Given the description of an element on the screen output the (x, y) to click on. 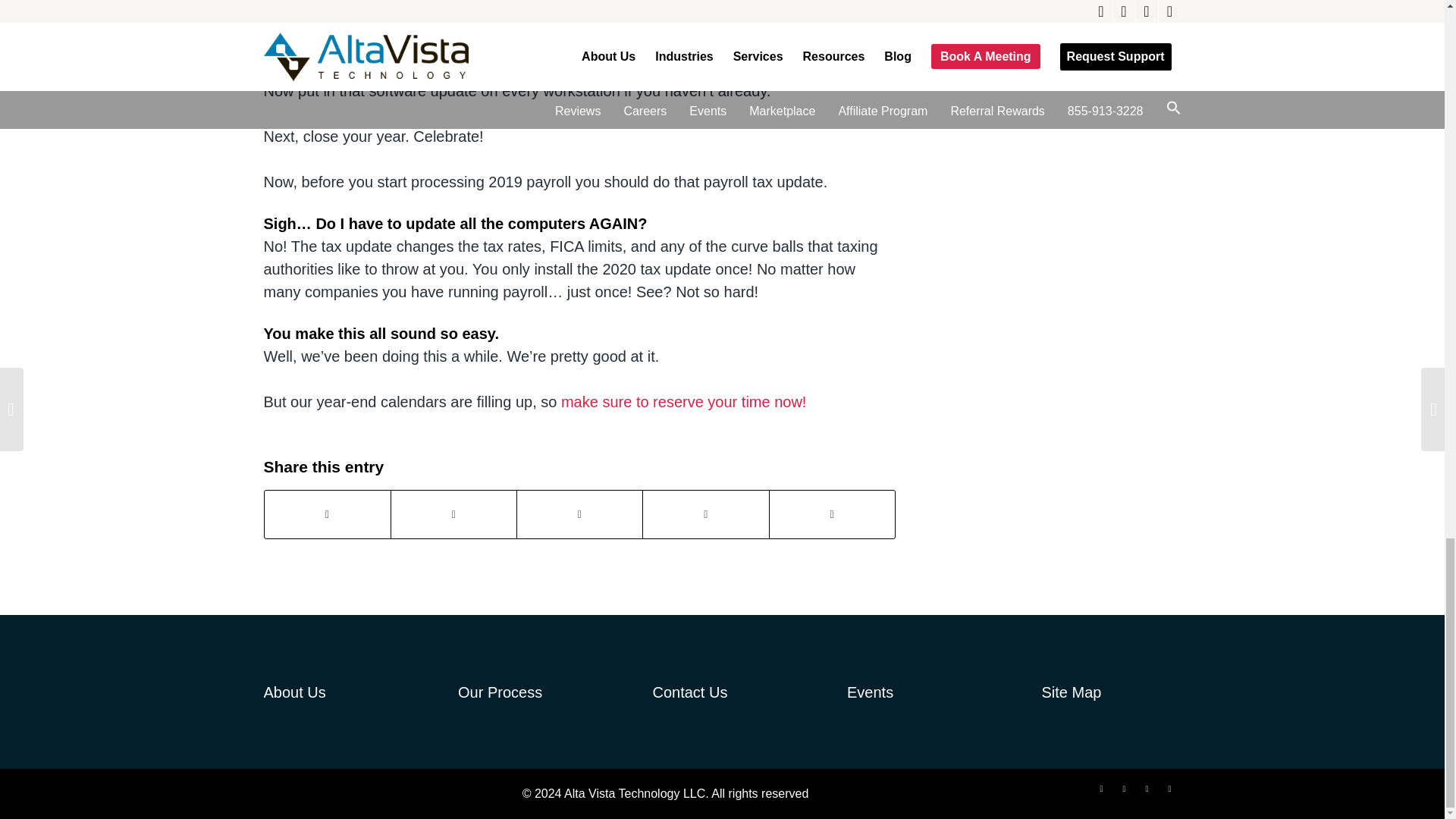
Facebook (1124, 788)
Twitter (1101, 788)
Linkedin (1146, 788)
Youtube (1169, 788)
